Given the description of an element on the screen output the (x, y) to click on. 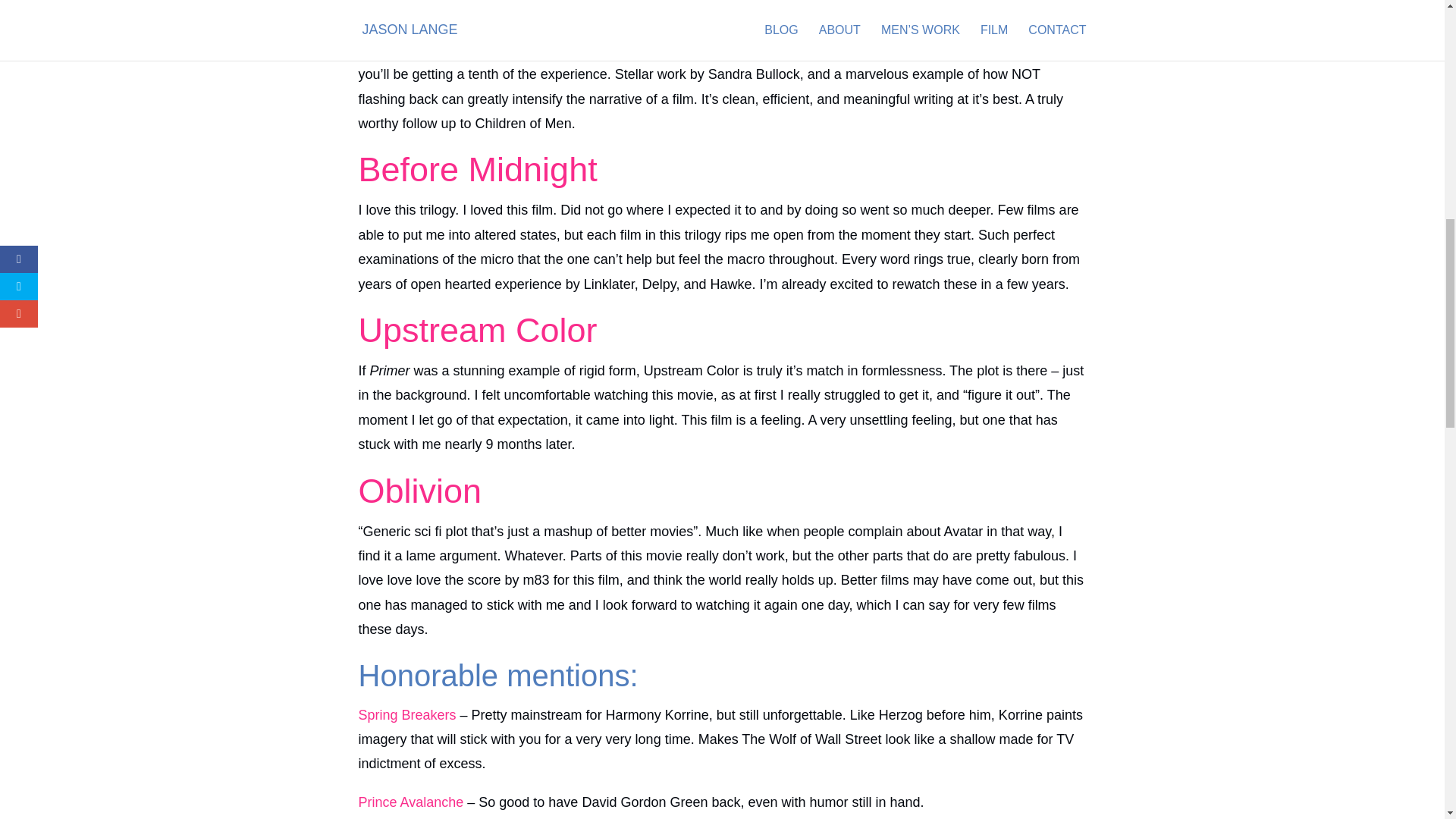
Upstream Color (477, 330)
Spring Breakers (406, 714)
Before Midnight (477, 169)
Oblivion (419, 490)
Prince Avalanche (410, 801)
